Given the description of an element on the screen output the (x, y) to click on. 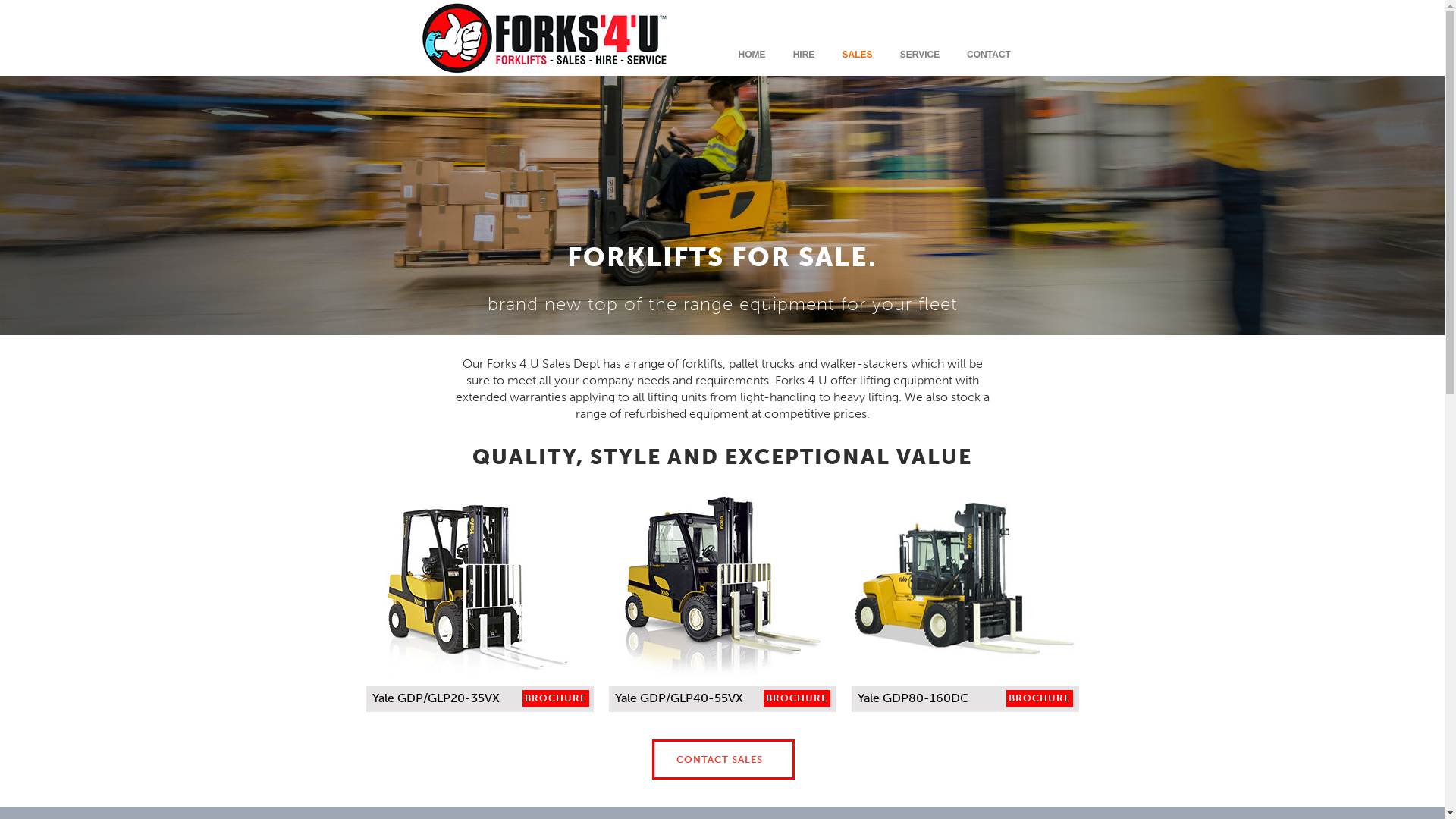
CONTACT Element type: text (985, 54)
BROCHURE Element type: text (795, 698)
BROCHURE Element type: text (1038, 698)
SALES Element type: text (853, 54)
CONTACT SALES Element type: text (723, 759)
HIRE Element type: text (800, 54)
HOME Element type: text (748, 54)
BROCHURE Element type: text (554, 698)
SERVICE Element type: text (915, 54)
